Given the description of an element on the screen output the (x, y) to click on. 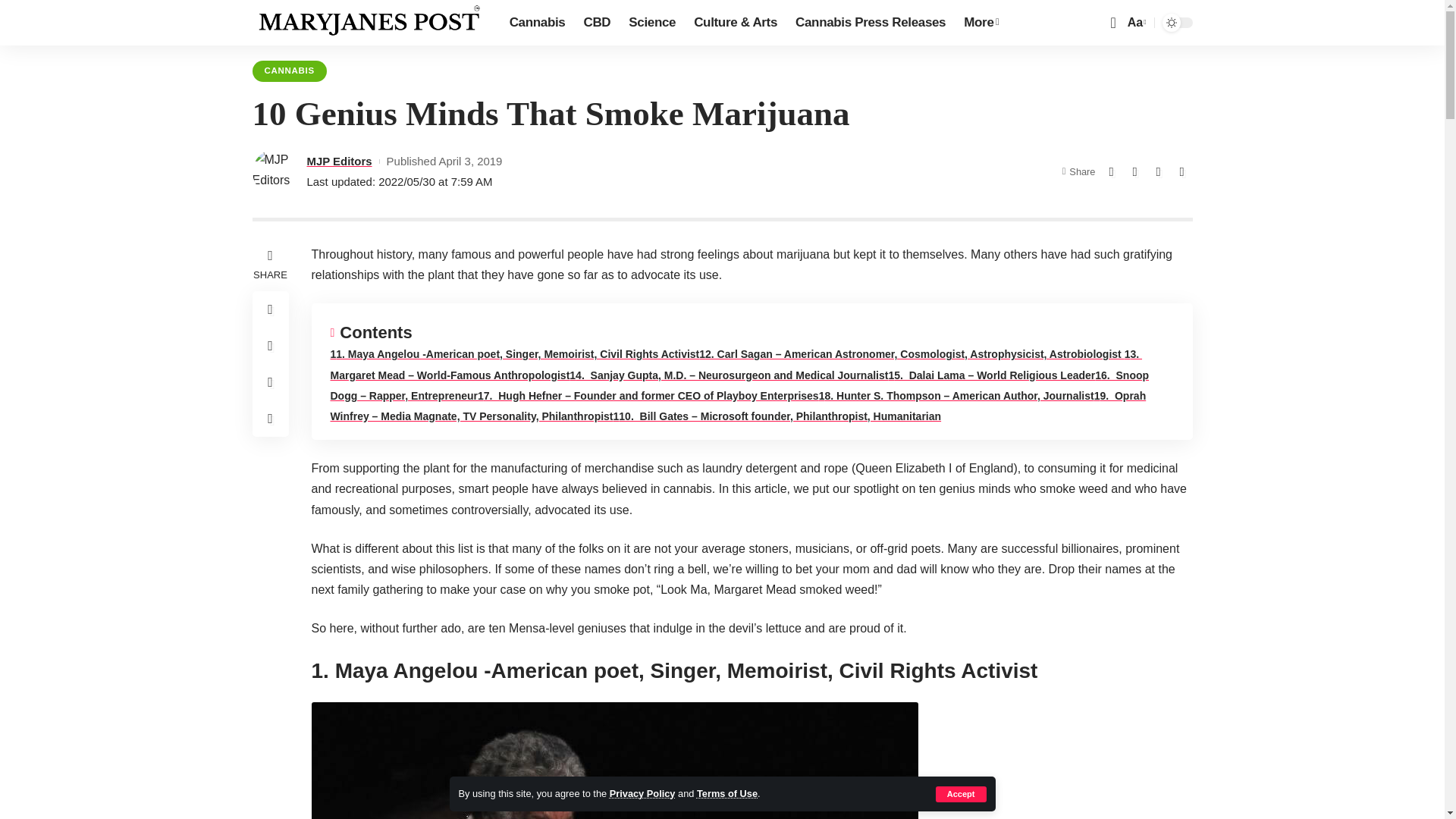
Cannabis (537, 22)
Cannabis Press Releases (870, 22)
Terms of Use (727, 793)
Aa (1135, 22)
More (981, 22)
Privacy Policy (642, 793)
CBD (596, 22)
10 Genius Minds That Smoke Marijuana (614, 760)
Accept (961, 794)
Cannabis News (367, 22)
Science (652, 22)
